Given the description of an element on the screen output the (x, y) to click on. 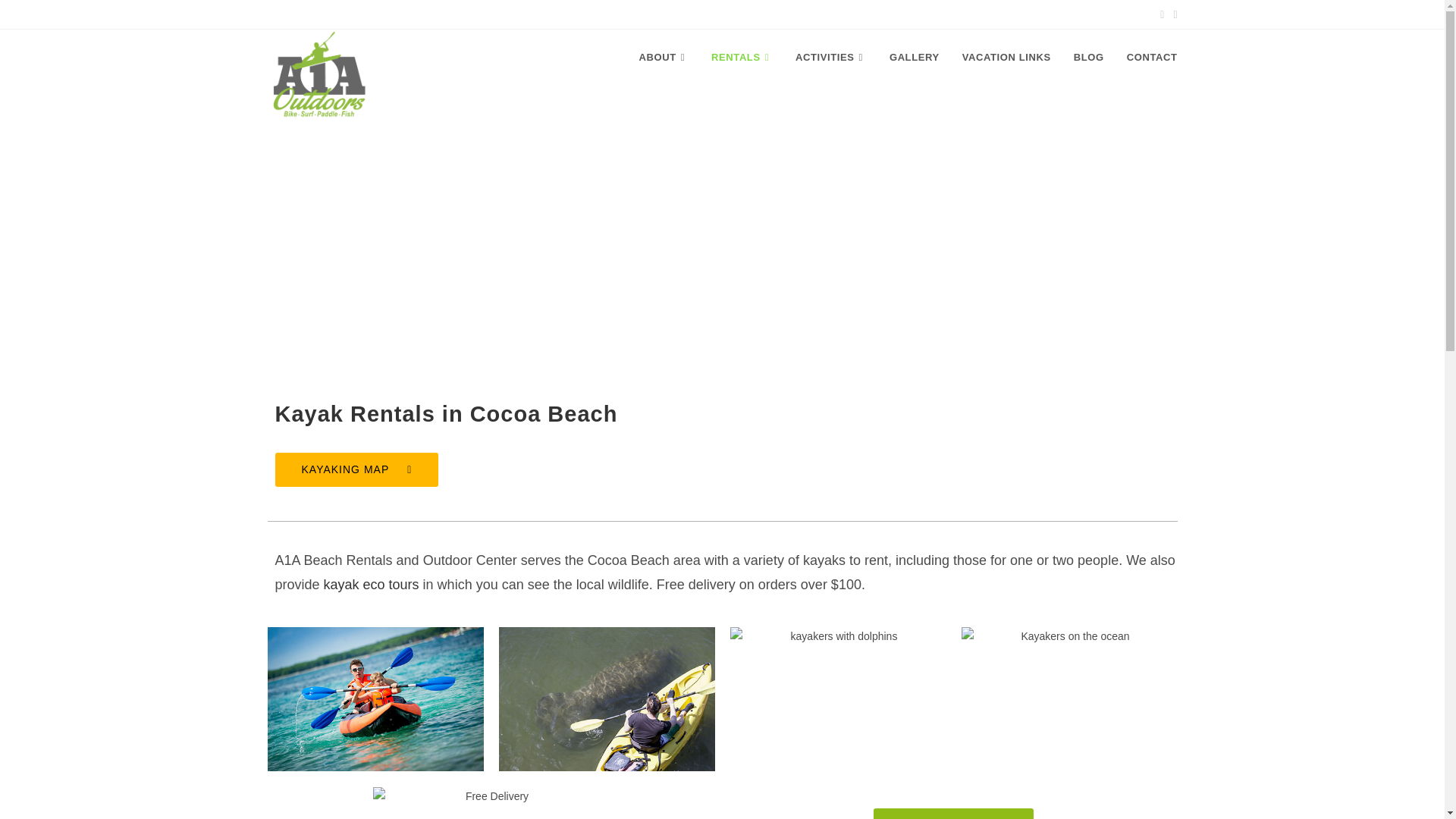
ABOUT (663, 57)
ACTIVITIES (830, 57)
Website Design by The Paramount Group.us (756, 802)
GALLERY (913, 57)
BLOG (1088, 57)
RENTALS (742, 57)
VACATION LINKS (1006, 57)
CONTACT (1152, 57)
